Given the description of an element on the screen output the (x, y) to click on. 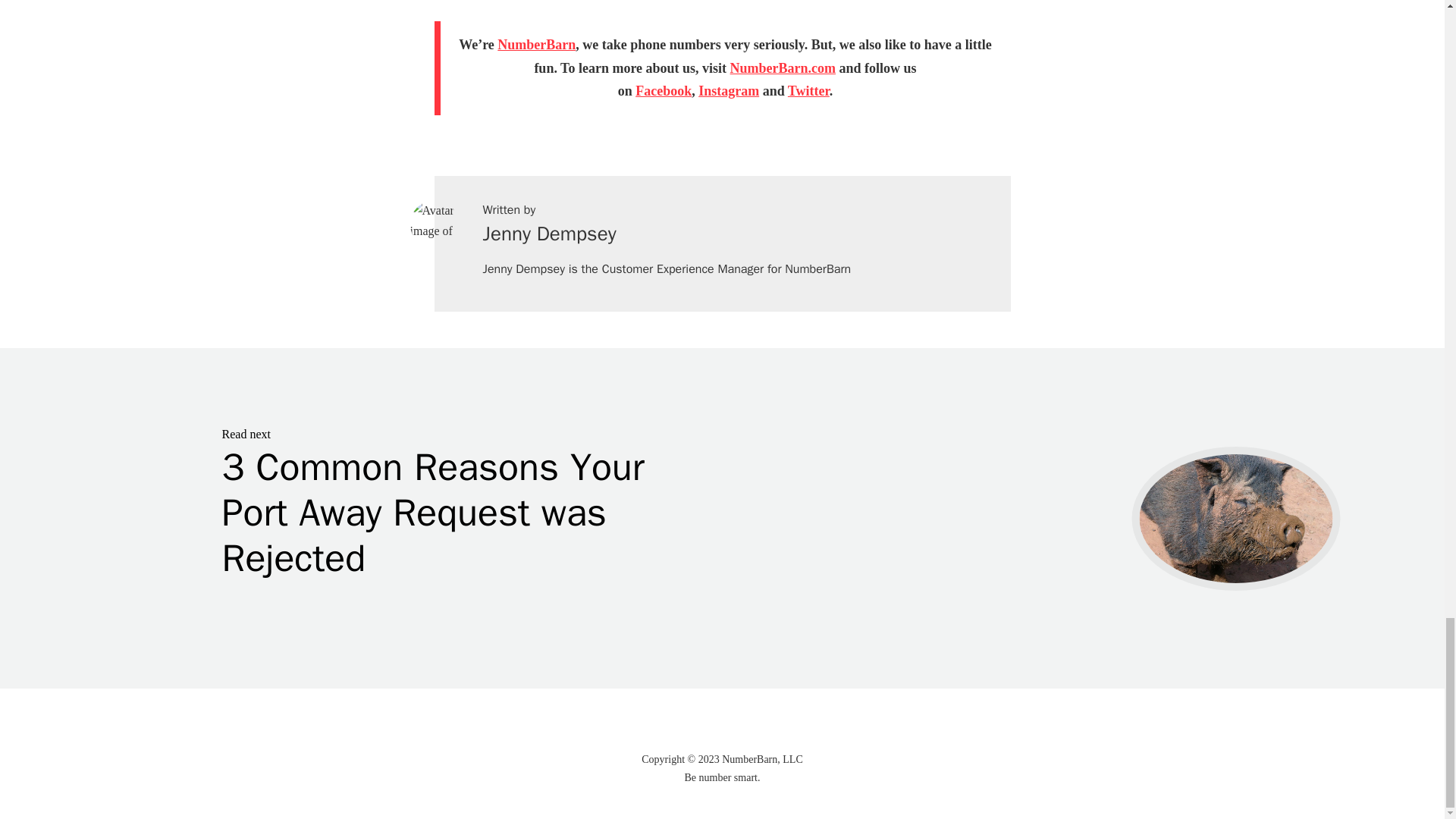
Instagram (728, 90)
NumberBarn.com (782, 68)
Twitter (808, 90)
Facebook (662, 90)
NumberBarn (536, 44)
